Given the description of an element on the screen output the (x, y) to click on. 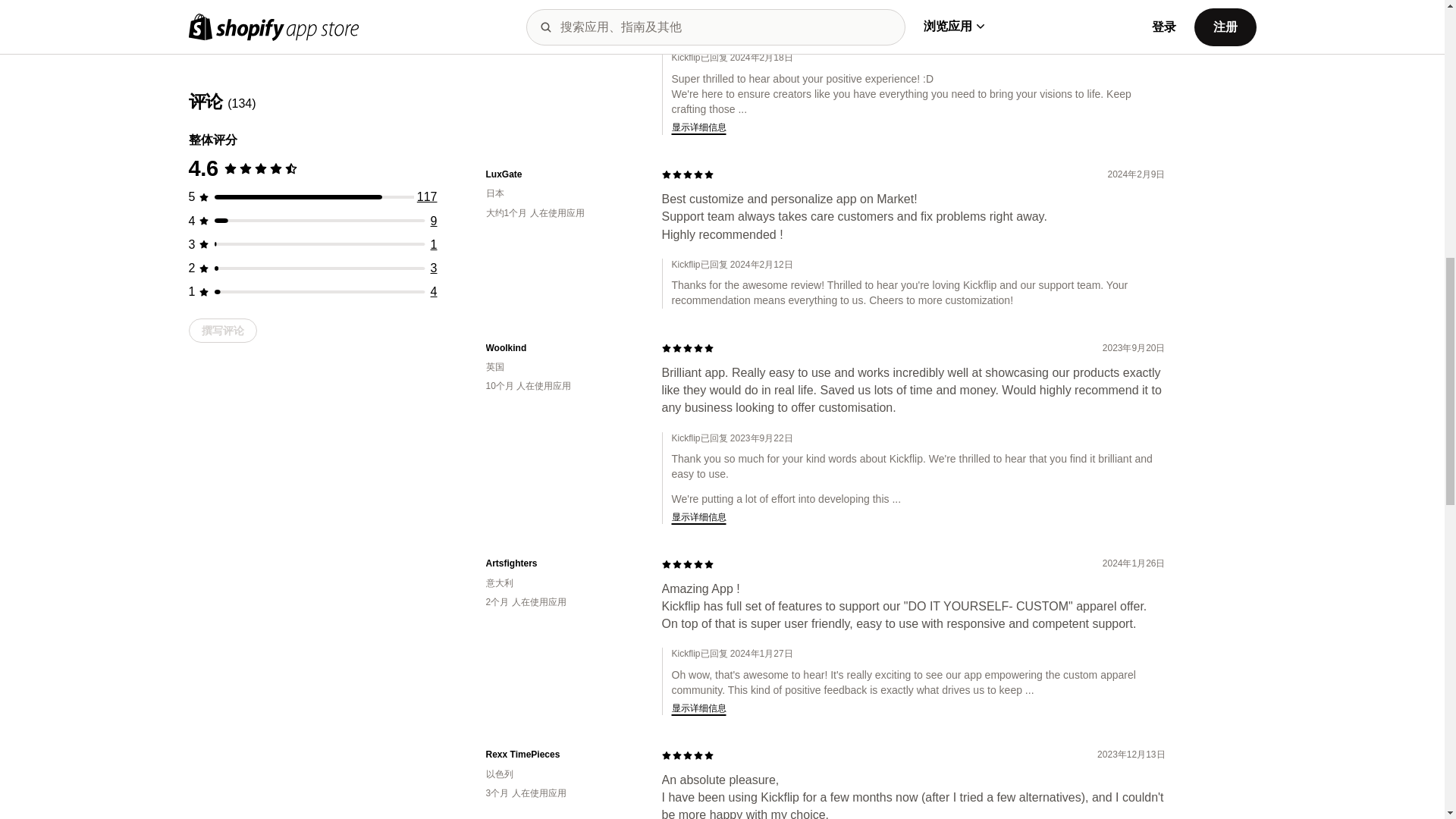
Artsfighters (560, 563)
LuxGate (560, 174)
Woolkind (560, 348)
Rexx TimePieces (560, 754)
